Given the description of an element on the screen output the (x, y) to click on. 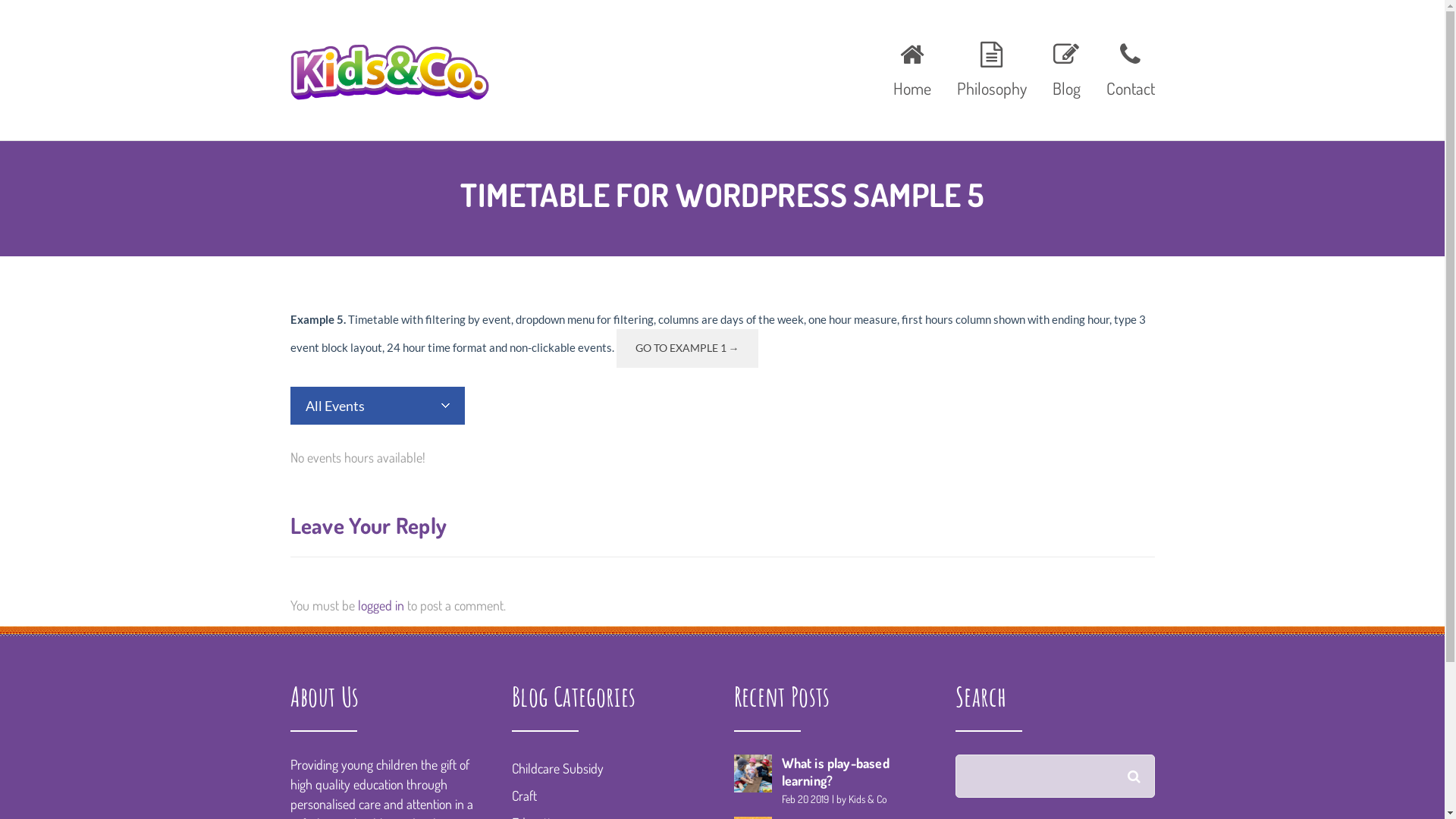
What is play-based learning? Element type: text (834, 771)
Search Element type: text (1141, 767)
Blog Element type: text (1065, 66)
Philosophy Element type: text (990, 66)
Home Element type: text (911, 66)
Childcare Subsidy Element type: text (557, 767)
Craft Element type: text (523, 795)
logged in Element type: text (380, 604)
Contact Element type: text (1124, 66)
